Given the description of an element on the screen output the (x, y) to click on. 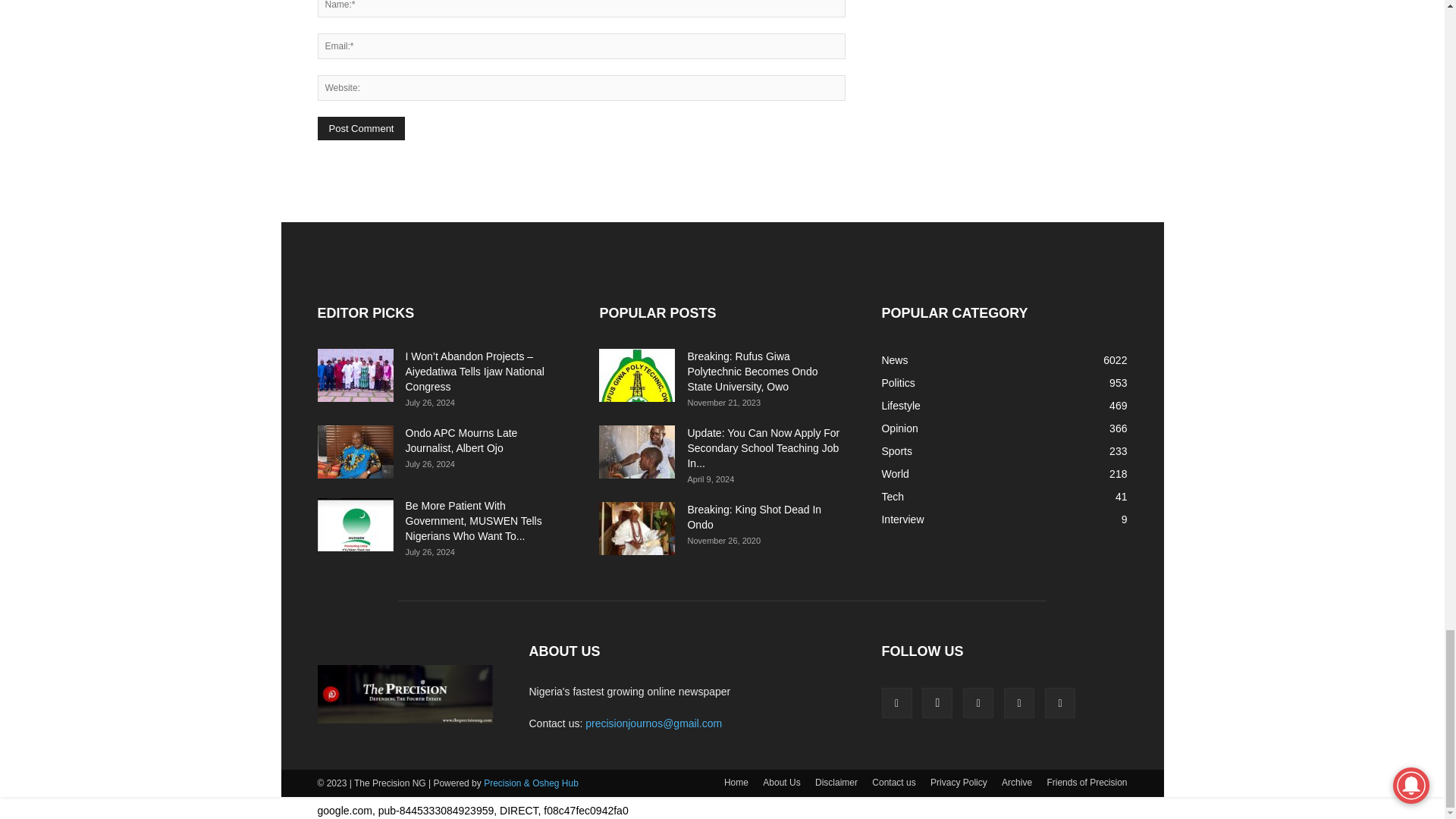
Post Comment (360, 128)
